Given the description of an element on the screen output the (x, y) to click on. 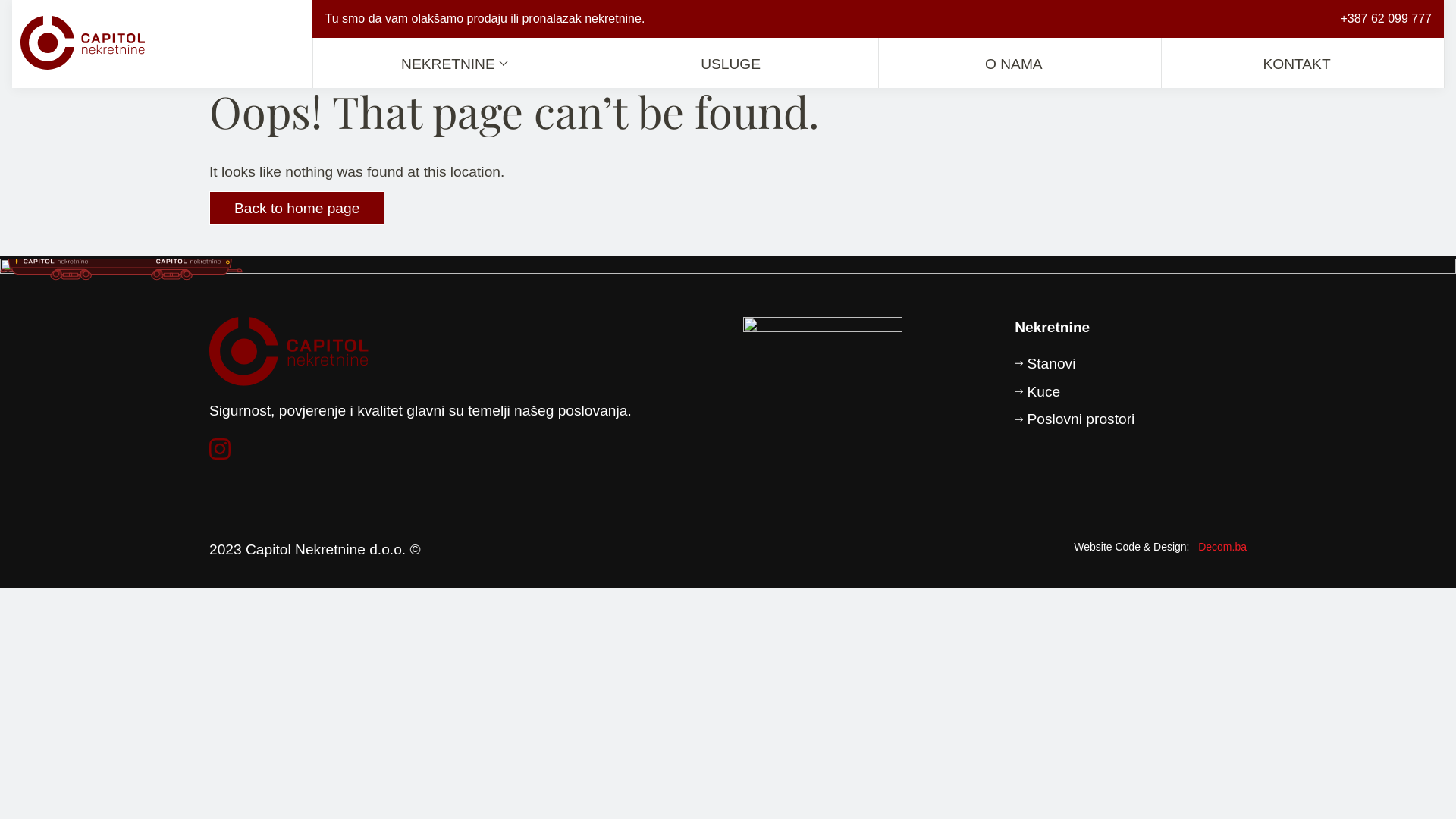
Kuce Element type: text (1074, 392)
Poslovni prostori Element type: text (1074, 419)
Stanovi Element type: text (1074, 364)
Back to home page Element type: text (296, 208)
KONTAKT Element type: text (1302, 64)
Decom.ba Element type: text (1222, 546)
O NAMA Element type: text (1019, 64)
Skip to content Element type: text (0, 0)
USLUGE Element type: text (736, 64)
+387 62 099 777 Element type: text (1385, 18)
NEKRETNINE Element type: text (454, 64)
